Given the description of an element on the screen output the (x, y) to click on. 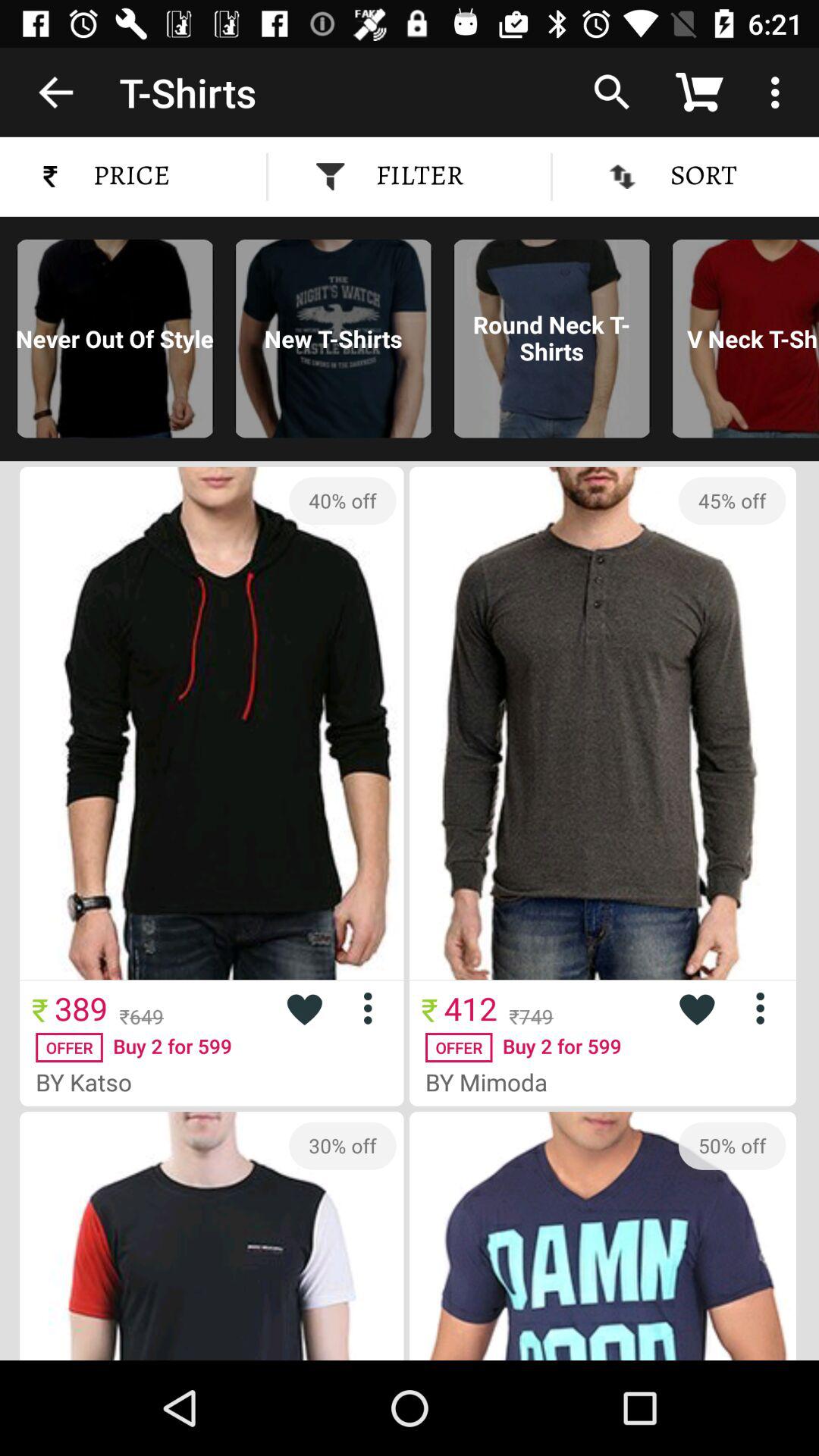
like this (304, 1008)
